Given the description of an element on the screen output the (x, y) to click on. 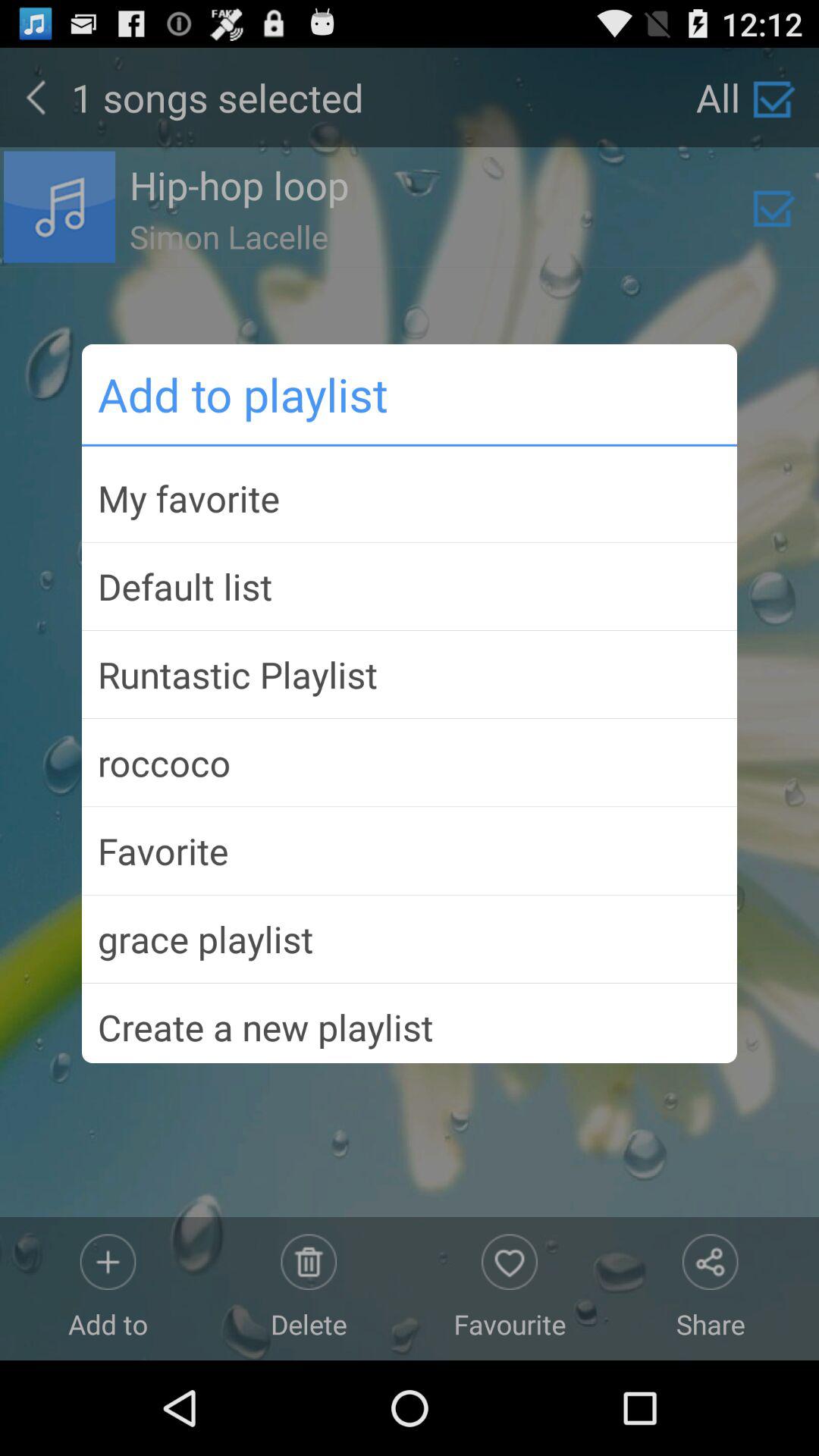
turn off the runtastic playlist icon (409, 674)
